Given the description of an element on the screen output the (x, y) to click on. 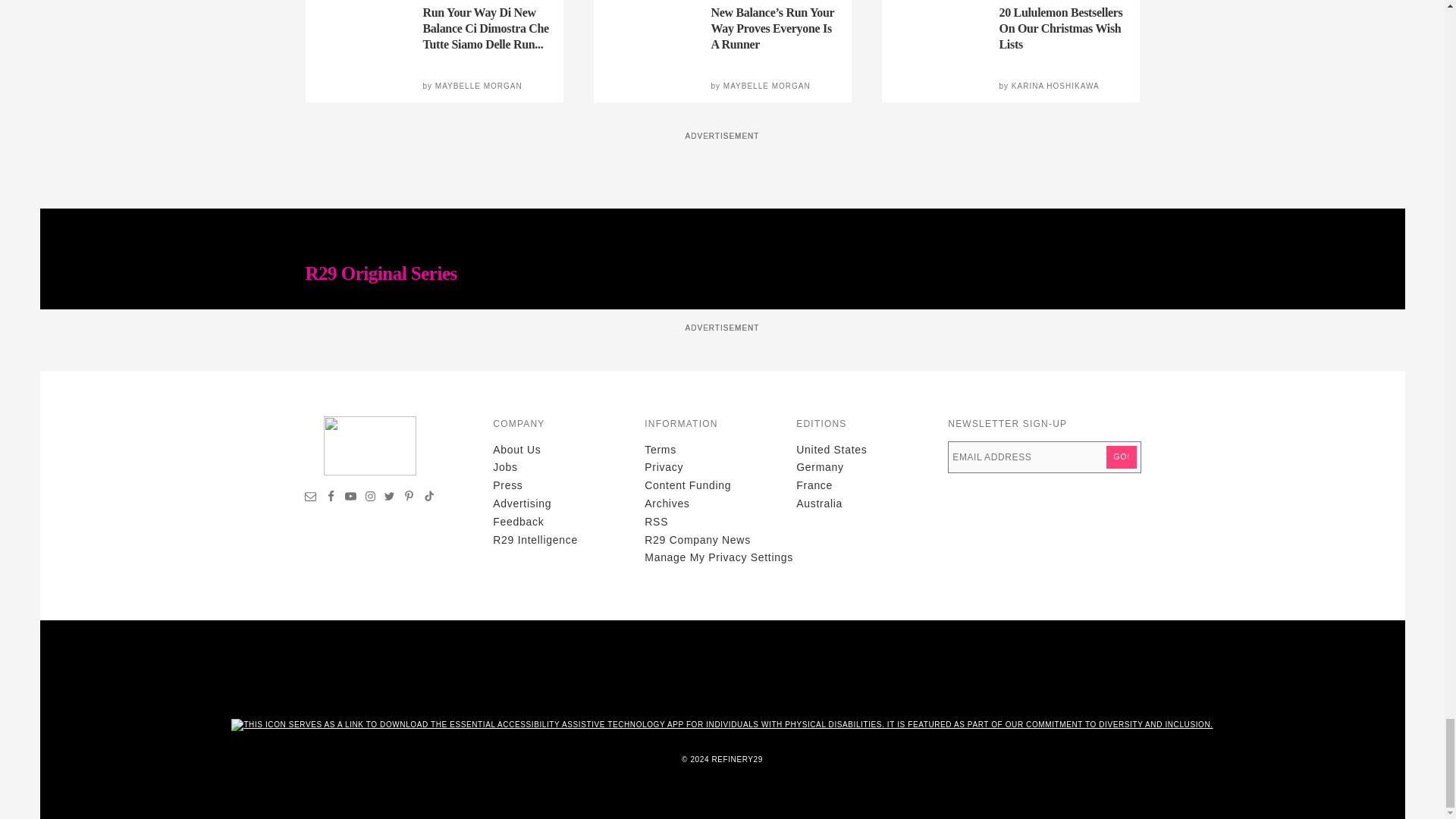
Visit Refinery29 on TikTok (428, 498)
Sign up for newsletters (310, 498)
Visit Refinery29 on YouTube (350, 498)
